Given the description of an element on the screen output the (x, y) to click on. 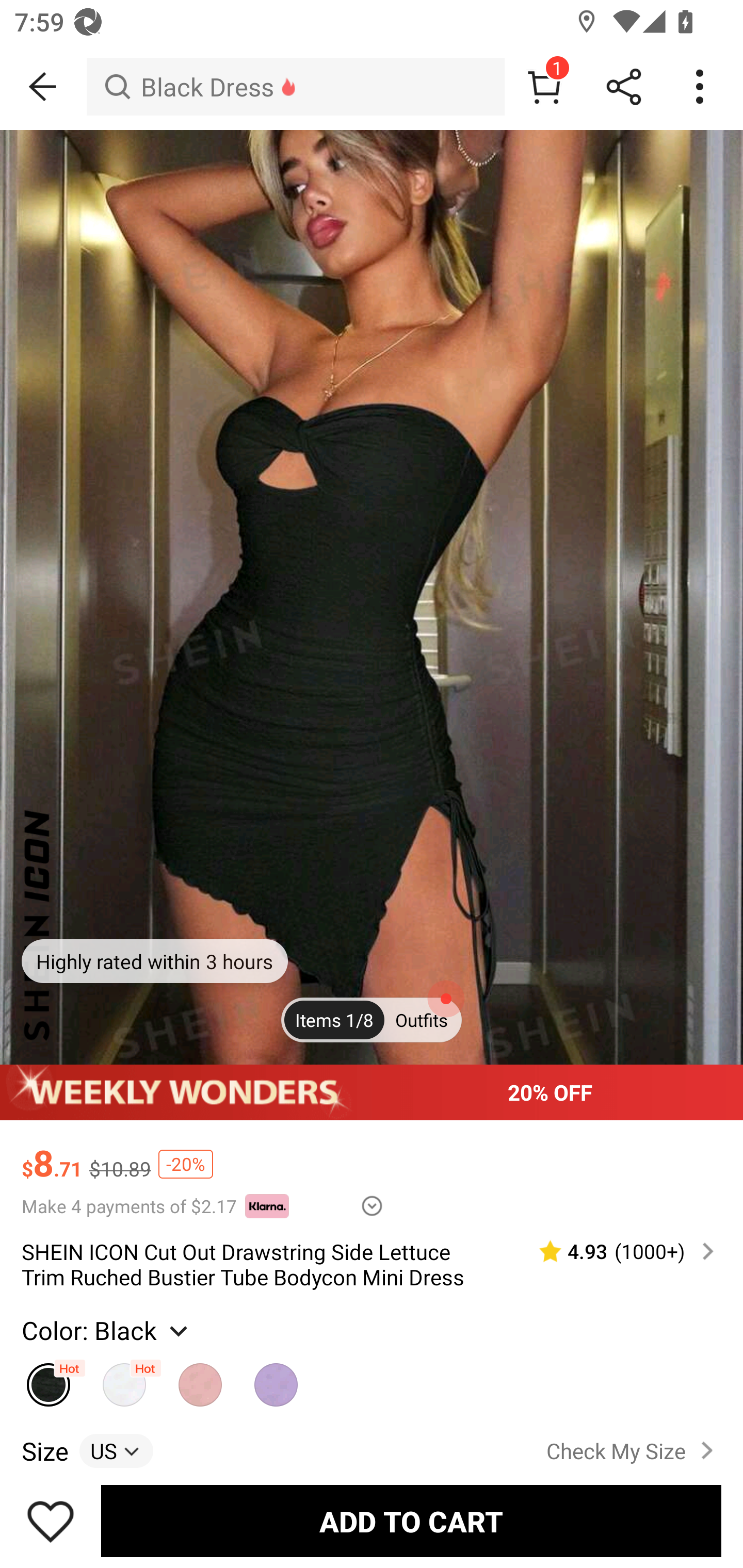
BACK (43, 86)
1 (543, 87)
Black Dress (295, 87)
Items 1/8 (334, 1019)
Outfits (421, 1019)
20% OFF (371, 1091)
$8.71 $10.89 -20% Make 4 payments of $2.17 (371, 1168)
4.93 (1000‎+) (617, 1251)
Color: Black (107, 1329)
Black (48, 1379)
White (124, 1379)
Dusty Pink (200, 1379)
Lilac Purple (276, 1379)
Size (44, 1450)
US (116, 1450)
Check My Size (633, 1451)
ADD TO CART (411, 1520)
Save (50, 1520)
